Given the description of an element on the screen output the (x, y) to click on. 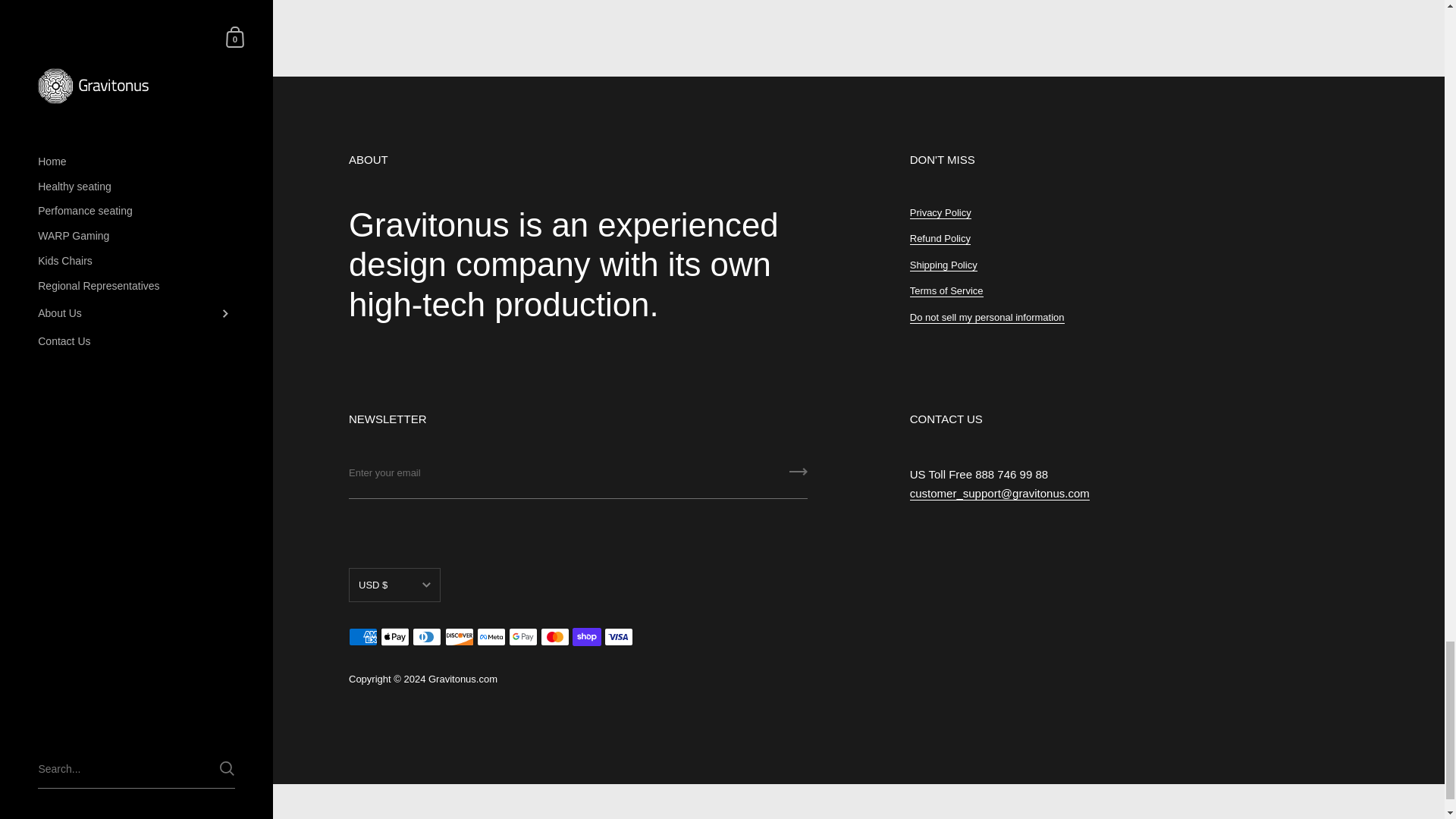
American Express (363, 637)
Meta Pay (491, 637)
Diners Club (426, 637)
Apple Pay (394, 637)
Visa (618, 637)
Discover (459, 637)
Shop Pay (586, 637)
Google Pay (522, 637)
Mastercard (554, 637)
